Given the description of an element on the screen output the (x, y) to click on. 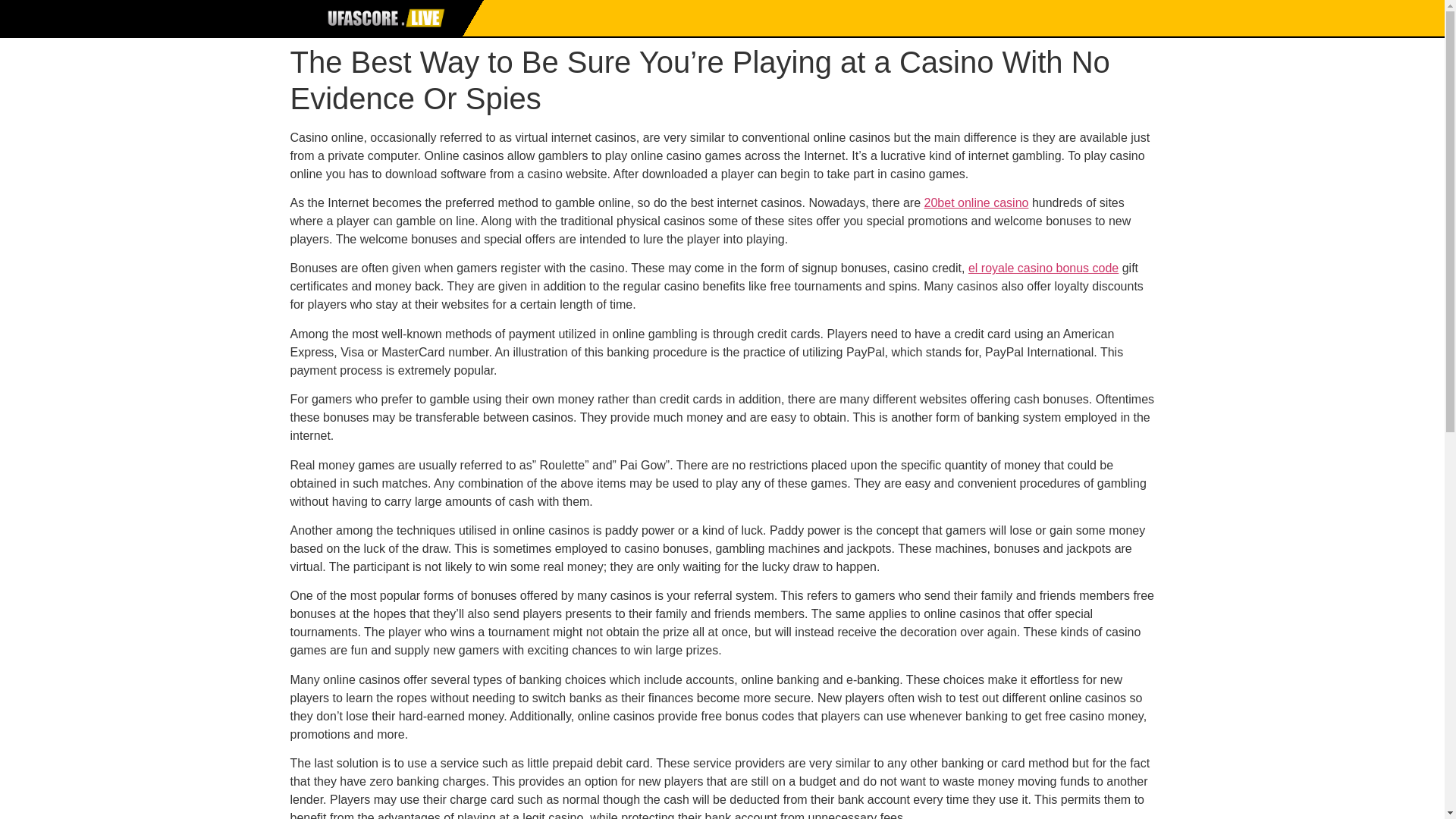
el royale casino bonus code (1043, 267)
20bet online casino (976, 202)
